Given the description of an element on the screen output the (x, y) to click on. 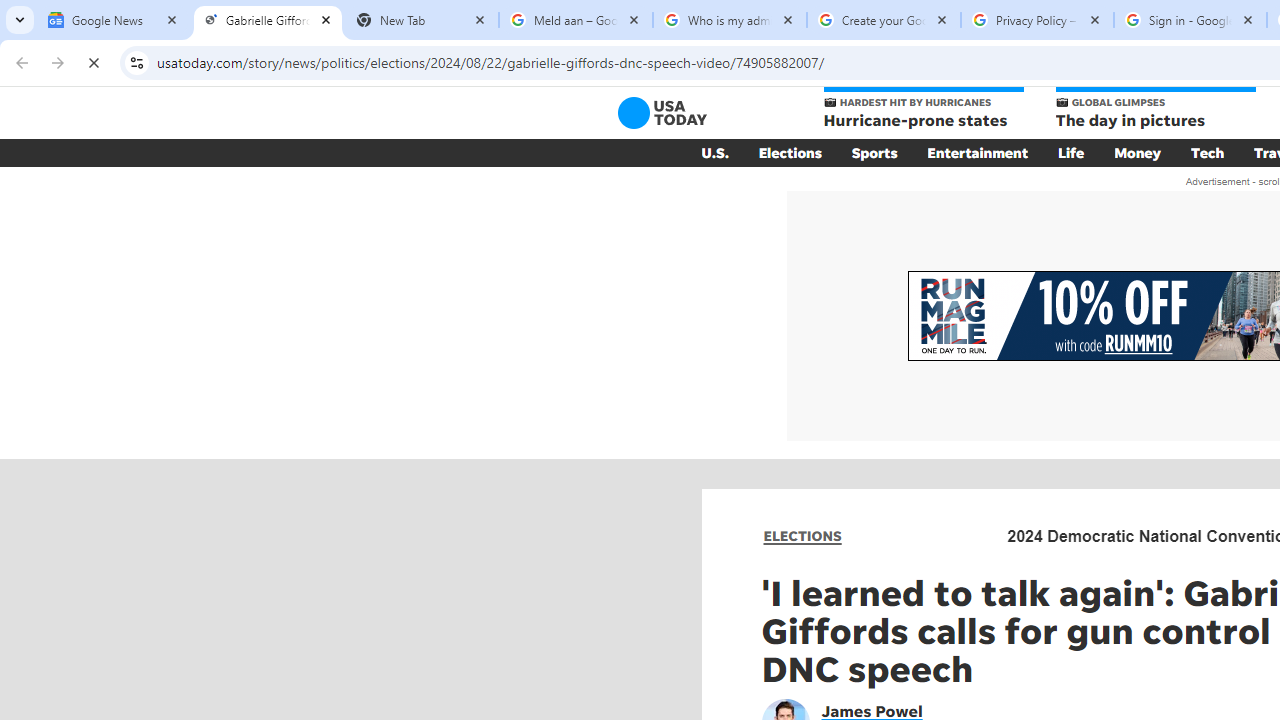
Money (1137, 152)
Google News (113, 20)
Elections (789, 152)
Life (1071, 152)
ELECTIONS (802, 536)
